Given the description of an element on the screen output the (x, y) to click on. 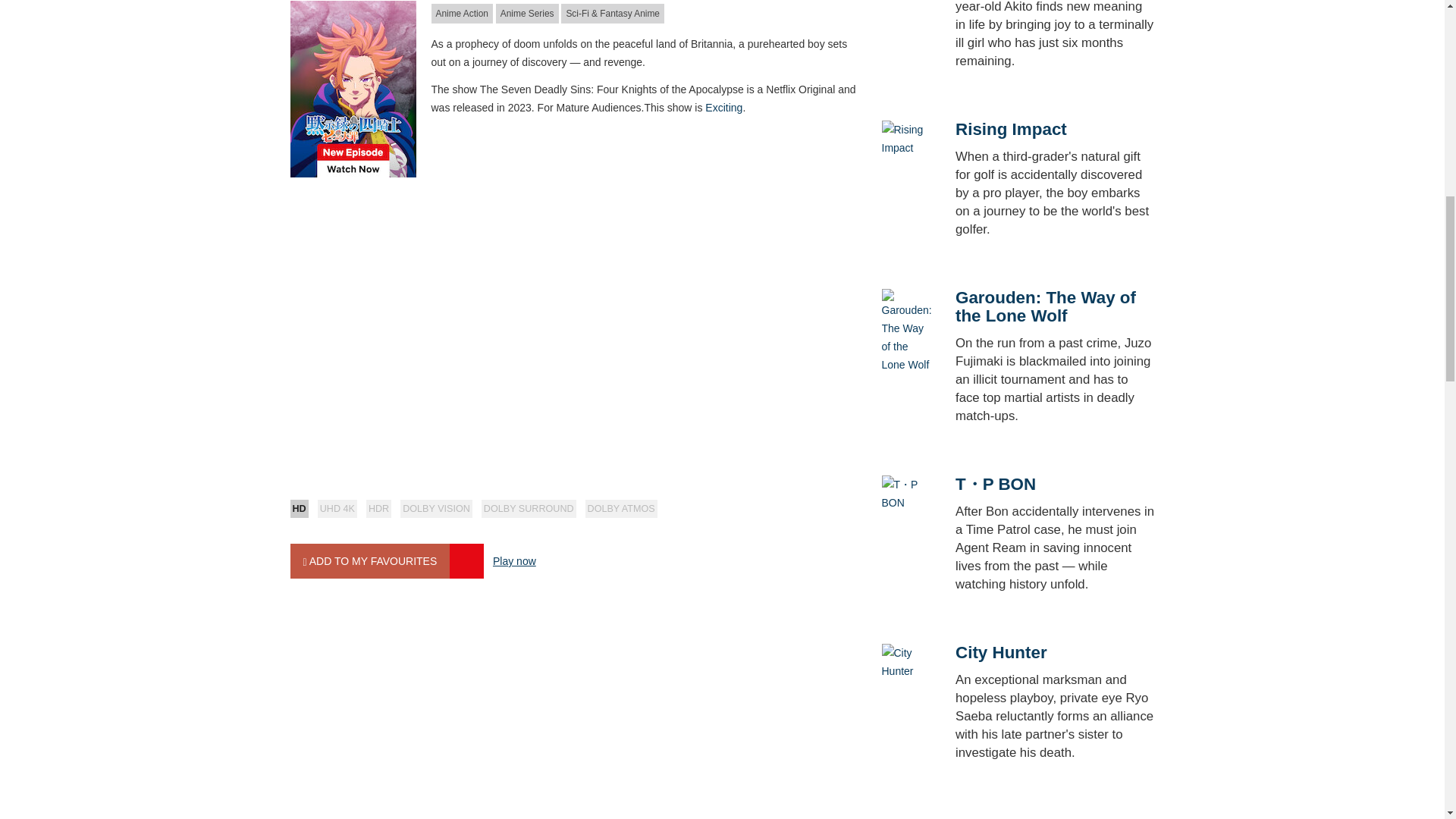
Play now (514, 561)
Anime Action (461, 13)
City Hunter (905, 661)
Exciting (723, 107)
ADD TO MY FAVOURITES (369, 560)
Garouden: The Way of the Lone Wolf (905, 330)
Rising Impact (905, 137)
Anime Series (527, 13)
